Given the description of an element on the screen output the (x, y) to click on. 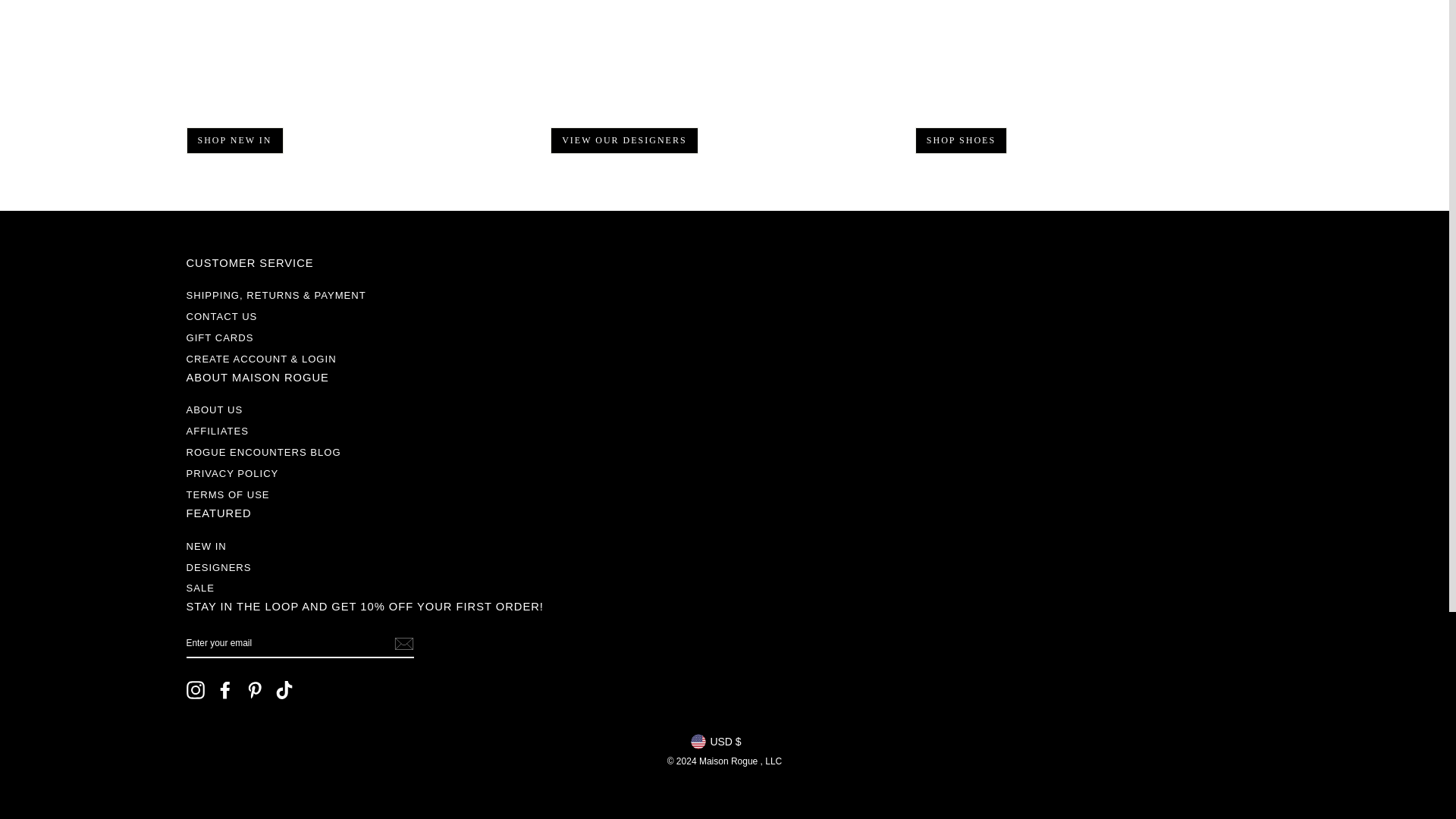
Maison Rogue on Instagram (195, 689)
Maison Rogue on Pinterest (254, 689)
Maison Rogue on Facebook (223, 689)
Maison Rogue on TikTok (283, 689)
